Given the description of an element on the screen output the (x, y) to click on. 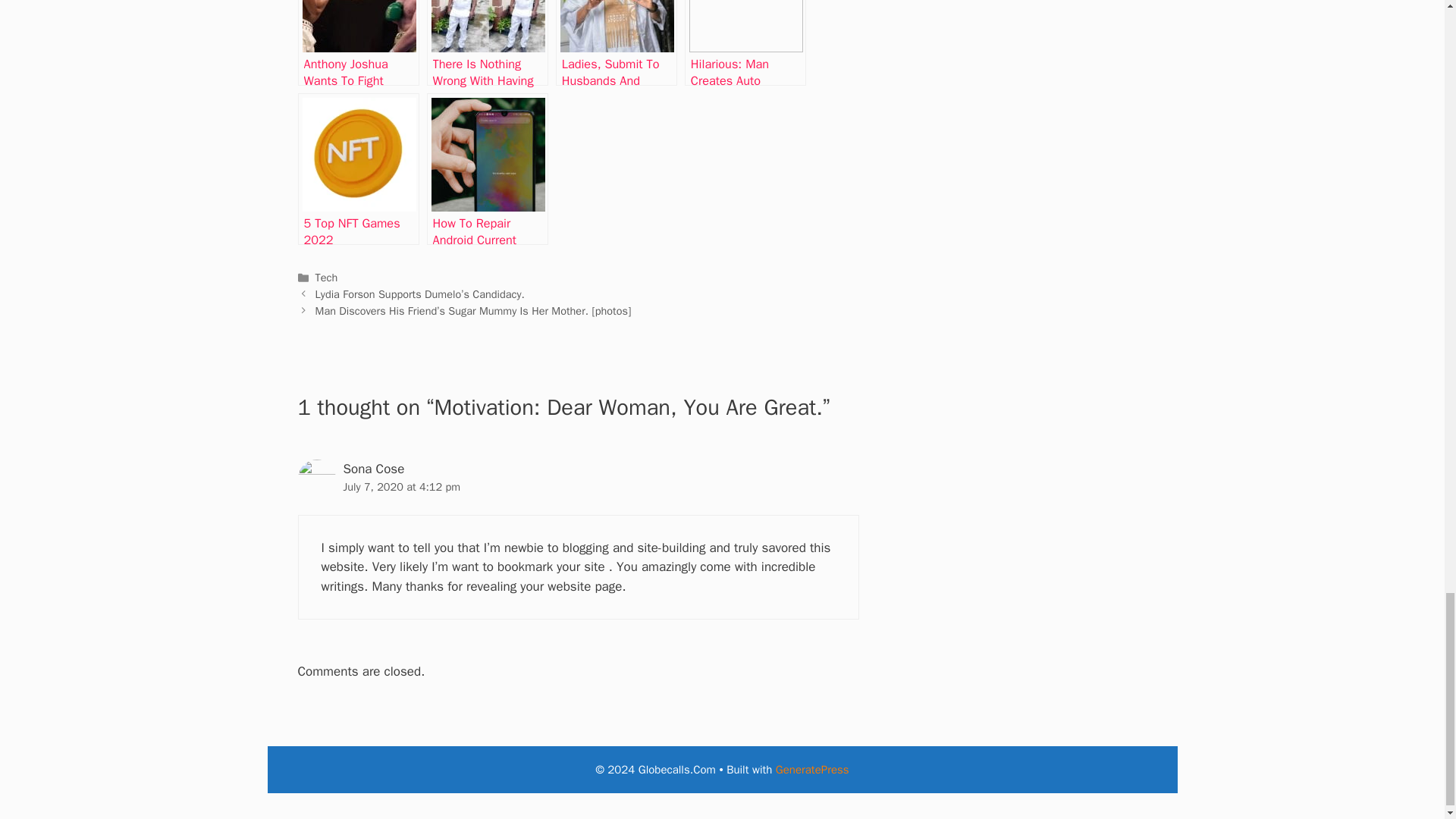
Ladies, Submit To Husbands And Honor Their Sacrifice (616, 42)
5 Top NFT Games 2022 (358, 168)
5 Top NFT Games 2022 (358, 168)
Ladies, Submit To Husbands And Honor Their Sacrifice (616, 42)
Tech (326, 277)
Anthony Joshua Wants To Fight Tyson Fury (358, 42)
July 7, 2020 at 4:12 pm (401, 486)
Anthony Joshua Wants To Fight Tyson Fury (358, 42)
